Given the description of an element on the screen output the (x, y) to click on. 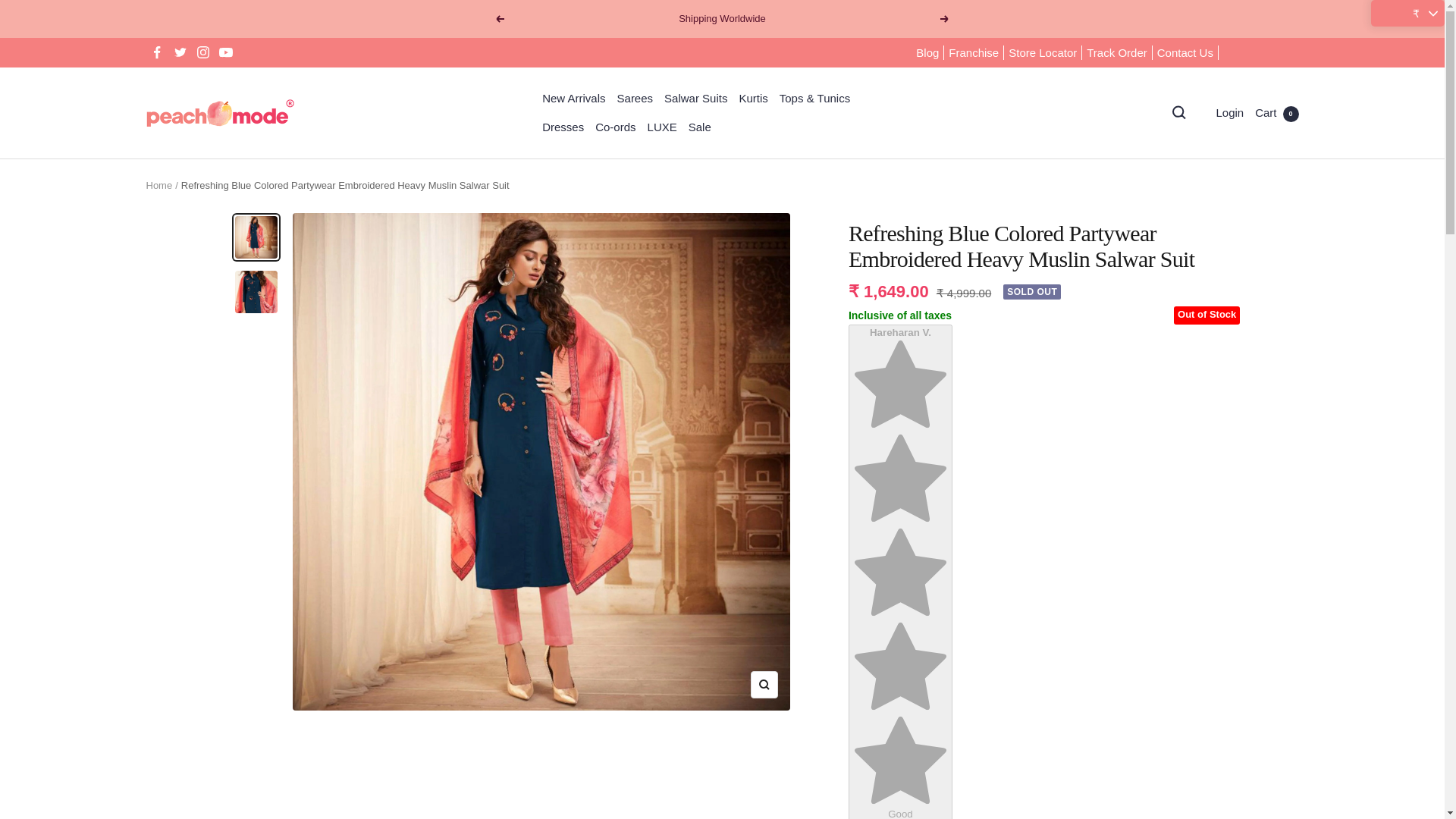
DE (1201, 329)
KW (1201, 505)
Blog (927, 52)
NO (1201, 629)
BE (1201, 154)
IL (1201, 429)
IN (1201, 379)
IE (1201, 404)
MU (1201, 555)
Store Locator (1042, 52)
CZ (1201, 204)
Next (944, 18)
FI (1201, 279)
QA (1201, 704)
NL (1201, 579)
